Given the description of an element on the screen output the (x, y) to click on. 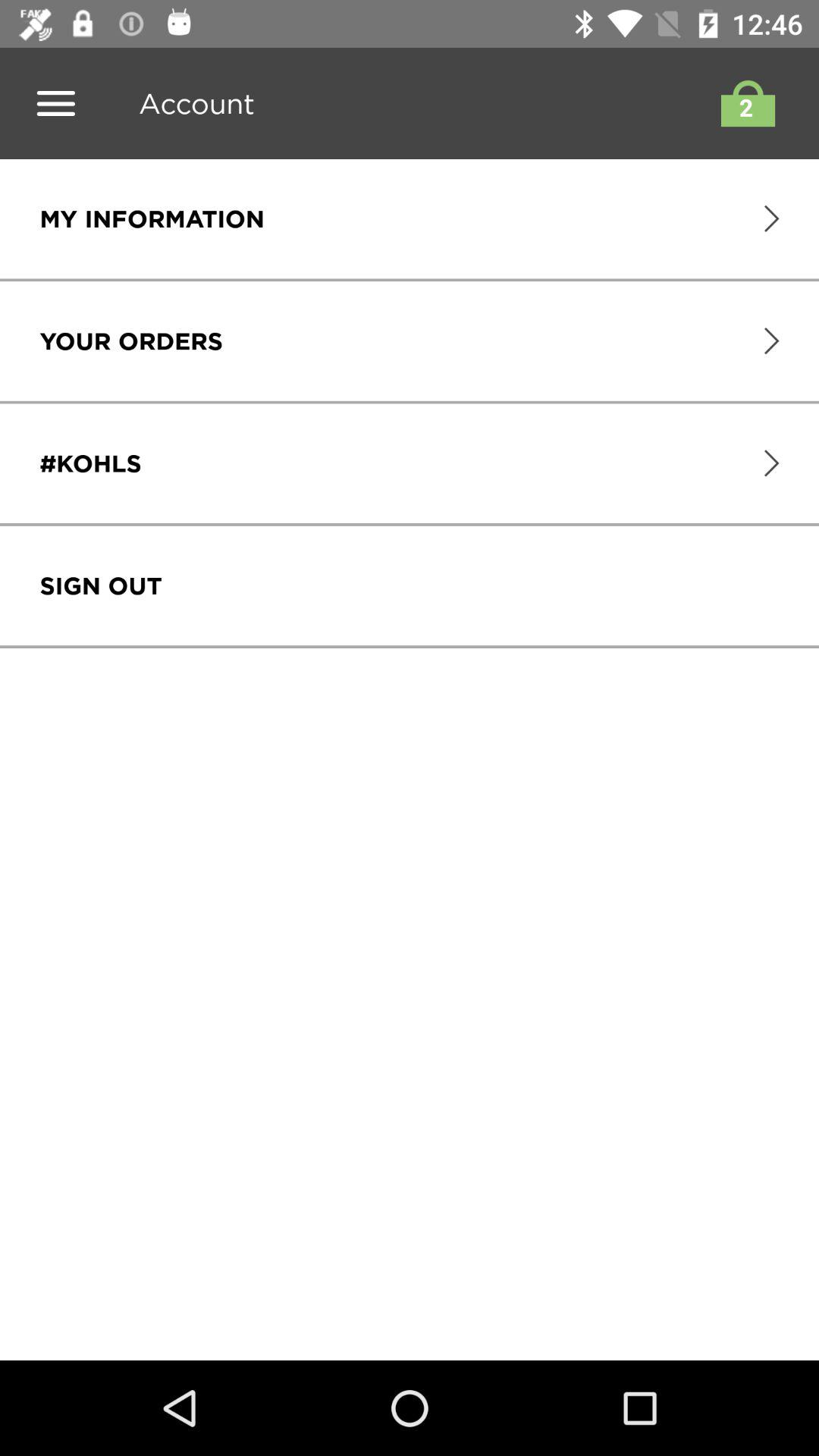
go to card (744, 103)
